Given the description of an element on the screen output the (x, y) to click on. 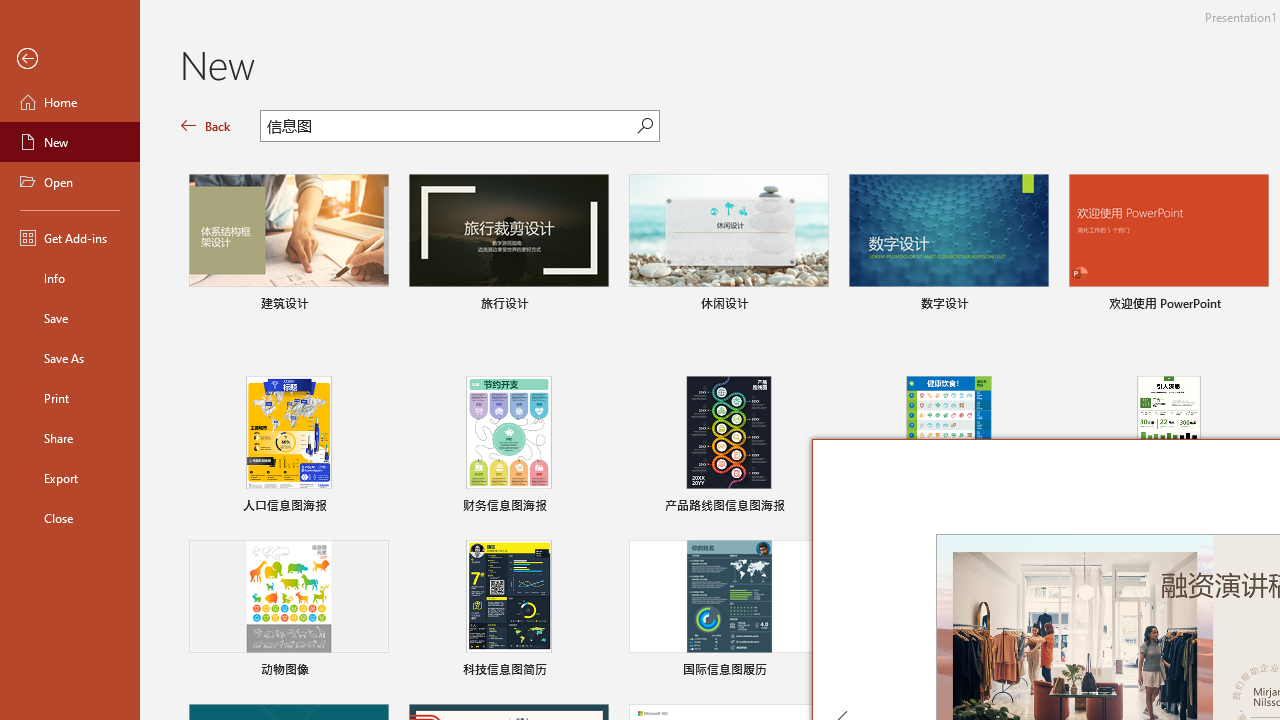
Save As (69, 357)
Start searching (645, 125)
Print (69, 398)
Back (69, 59)
Export (69, 477)
Get Add-ins (69, 237)
